Given the description of an element on the screen output the (x, y) to click on. 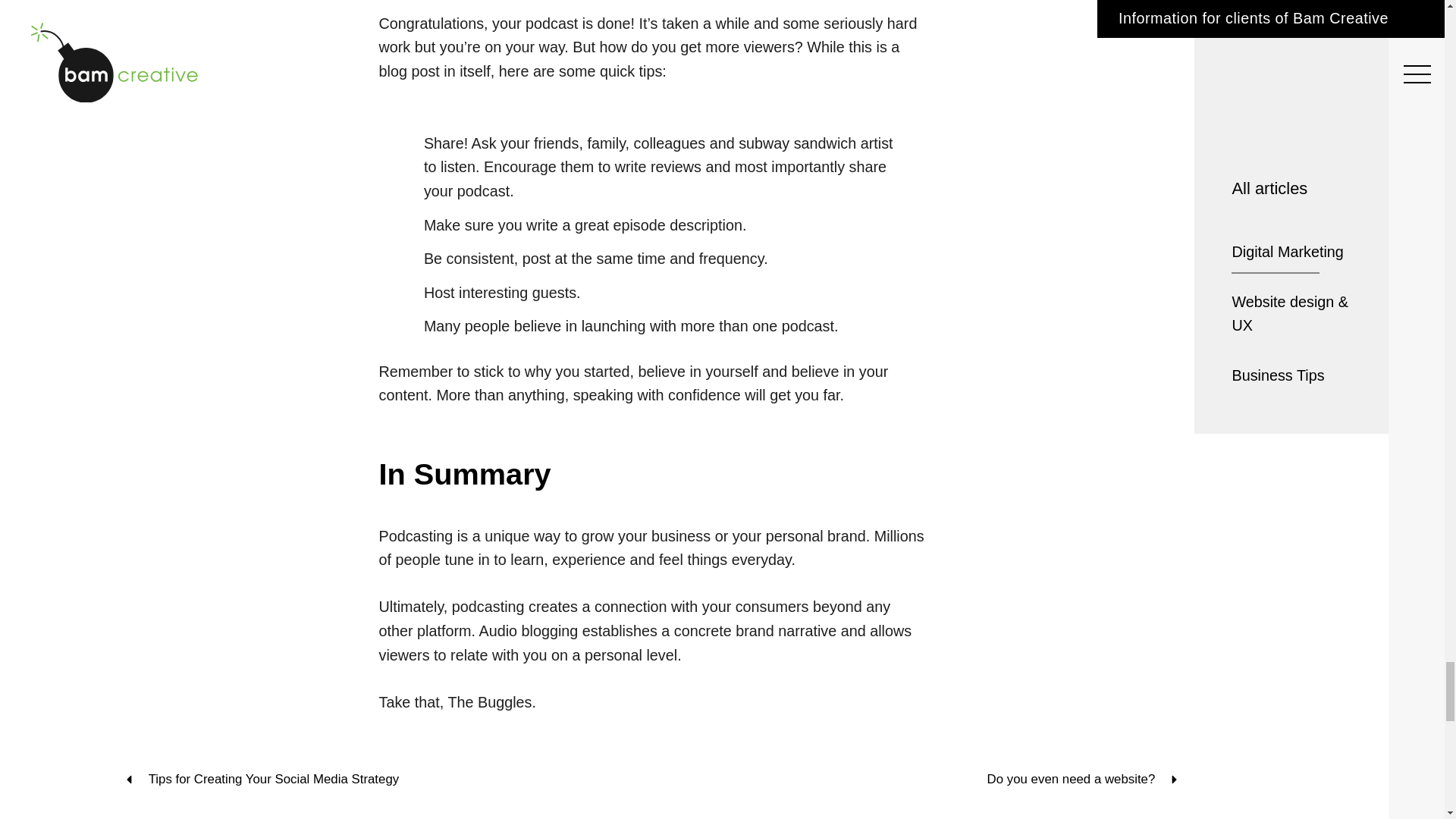
Do you even need a website? (923, 778)
Read more: Do you even need a website? (923, 778)
Tips for Creating Your Social Media Strategy (380, 778)
Read more: Tips for Creating Your Social Media Strategy (380, 778)
